Given the description of an element on the screen output the (x, y) to click on. 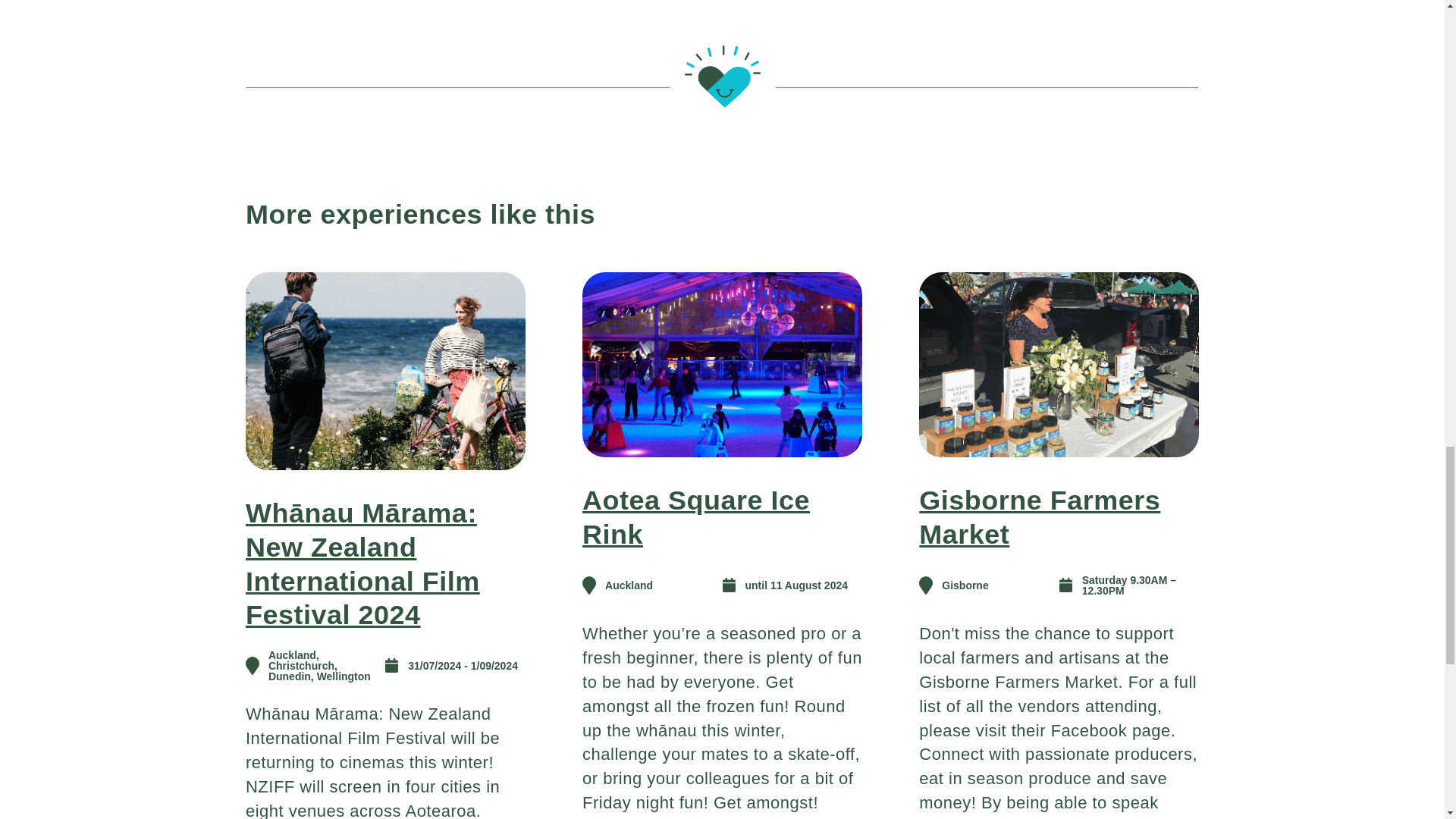
Permanent Link to Gisborne Farmers Market (1039, 516)
Permanent Link to Gisborne Farmers Market (1058, 477)
Gisborne Farmers Market (1039, 516)
Aotea Square Ice Rink (695, 516)
Permanent Link to Aotea Square Ice Rink (695, 516)
Permanent Link to Aotea Square Ice Rink (721, 477)
